Given the description of an element on the screen output the (x, y) to click on. 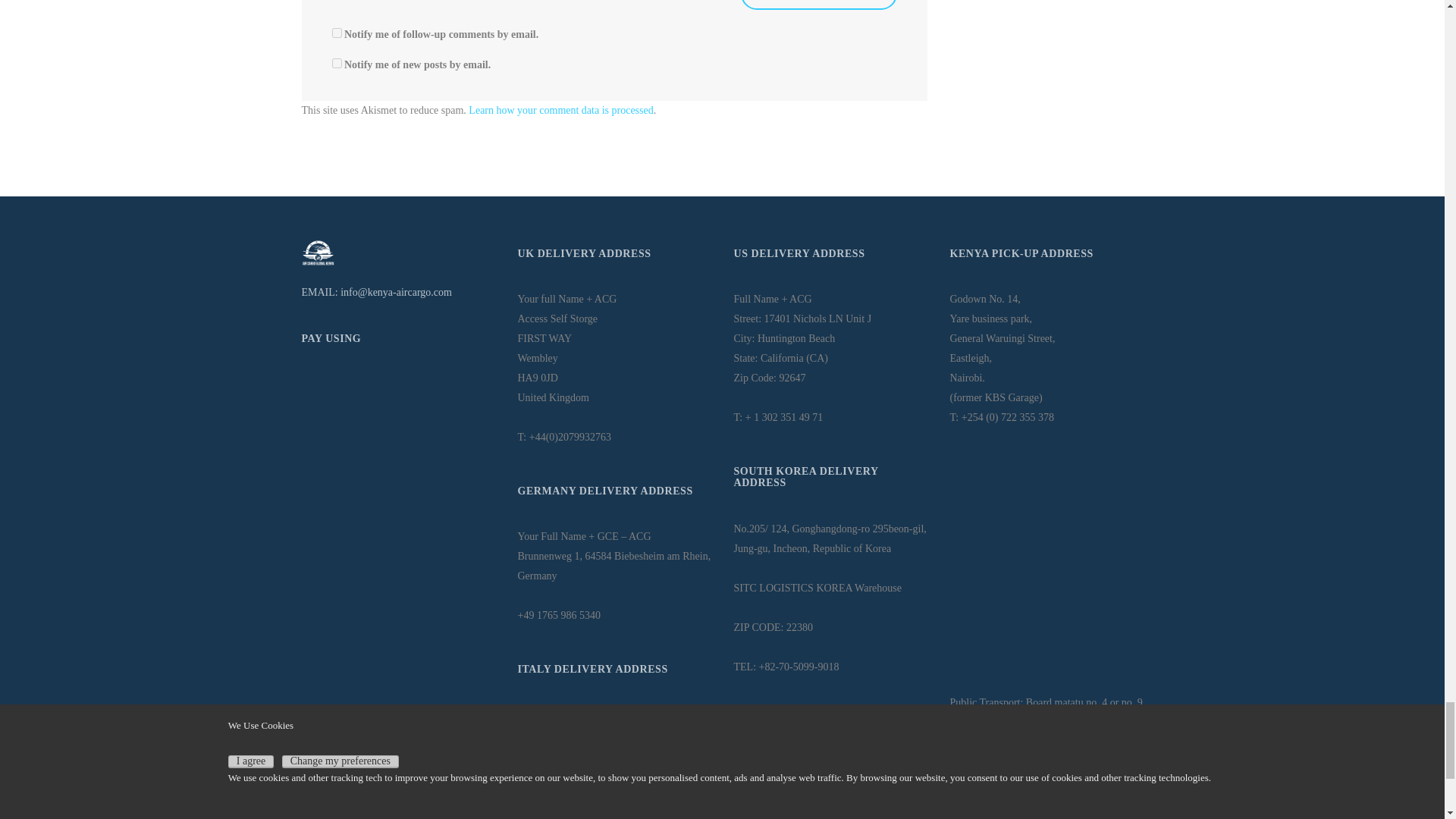
subscribe (336, 32)
subscribe (336, 62)
